Given the description of an element on the screen output the (x, y) to click on. 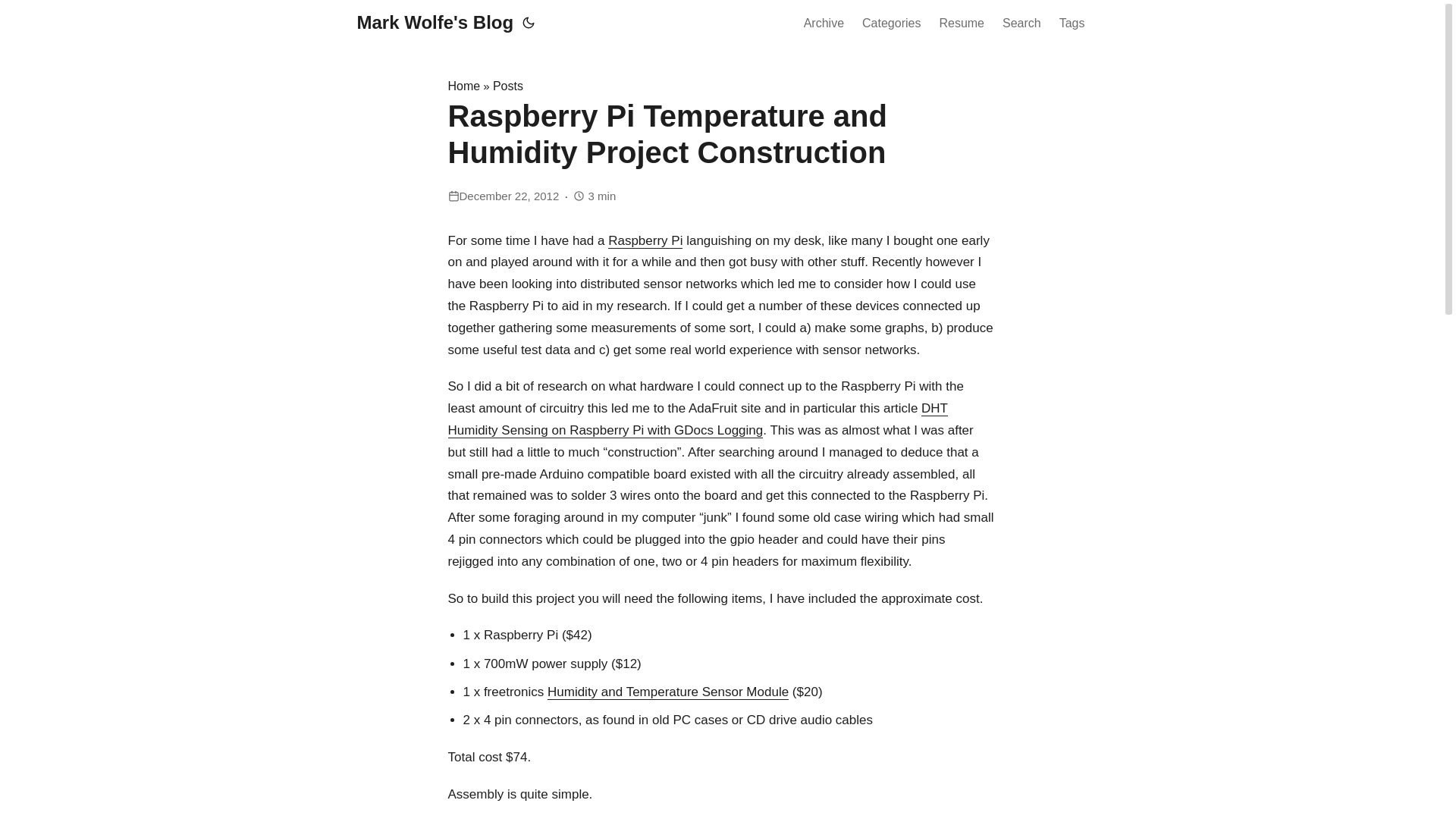
Tags Element type: text (1072, 23)
Archive Element type: text (823, 23)
(Alt + T) Element type: hover (528, 22)
Home Element type: text (463, 86)
Posts Element type: text (507, 86)
Humidity and Temperature Sensor Module Element type: text (667, 691)
Mark Wolfe's Blog Element type: text (434, 22)
Resume Element type: text (961, 23)
Raspberry Pi Element type: text (645, 240)
Categories Element type: text (891, 23)
Search Element type: text (1021, 23)
DHT Humidity Sensing on Raspberry Pi with GDocs Logging Element type: text (697, 419)
